Given the description of an element on the screen output the (x, y) to click on. 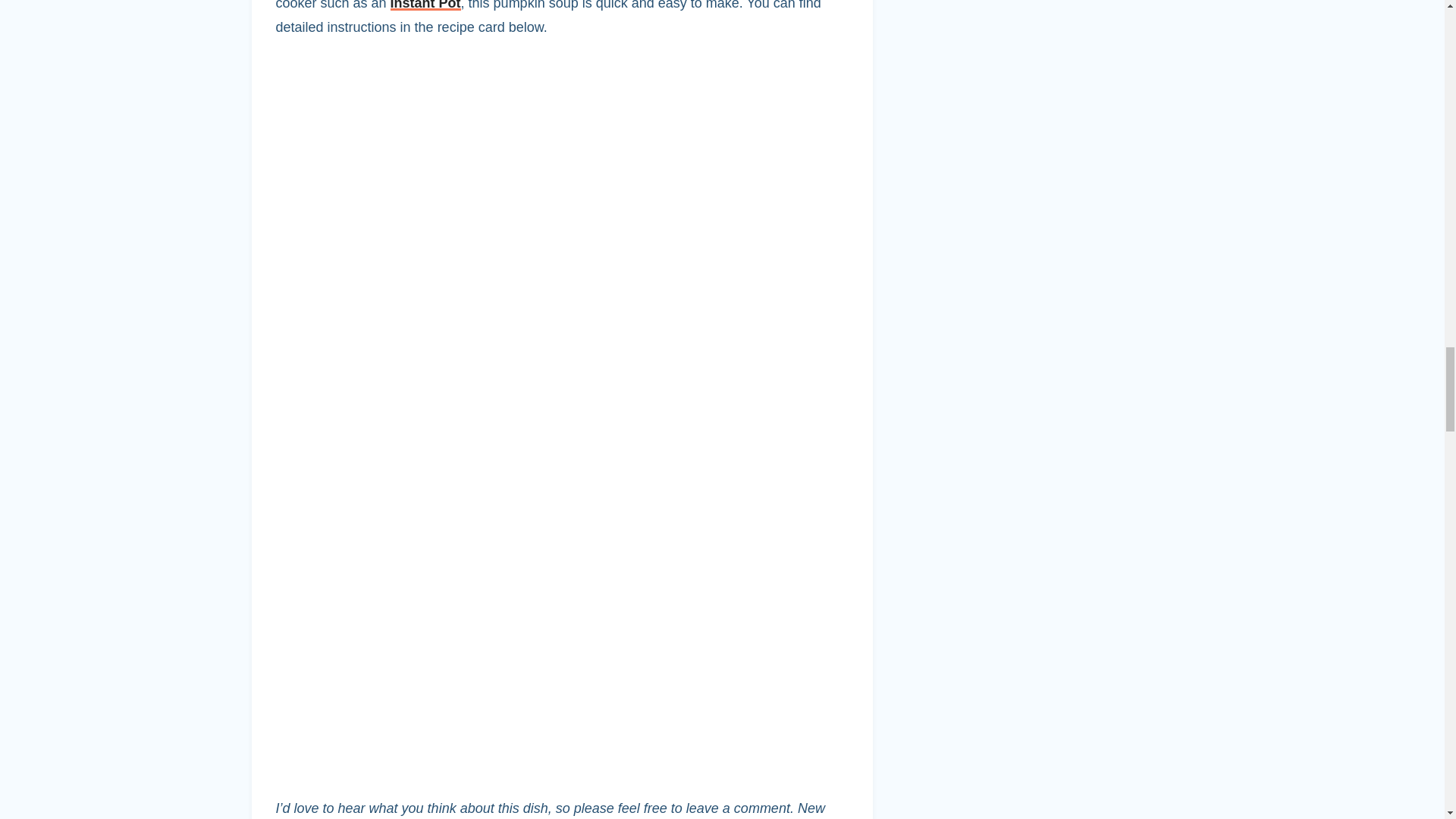
Instant Pot (425, 5)
